Given the description of an element on the screen output the (x, y) to click on. 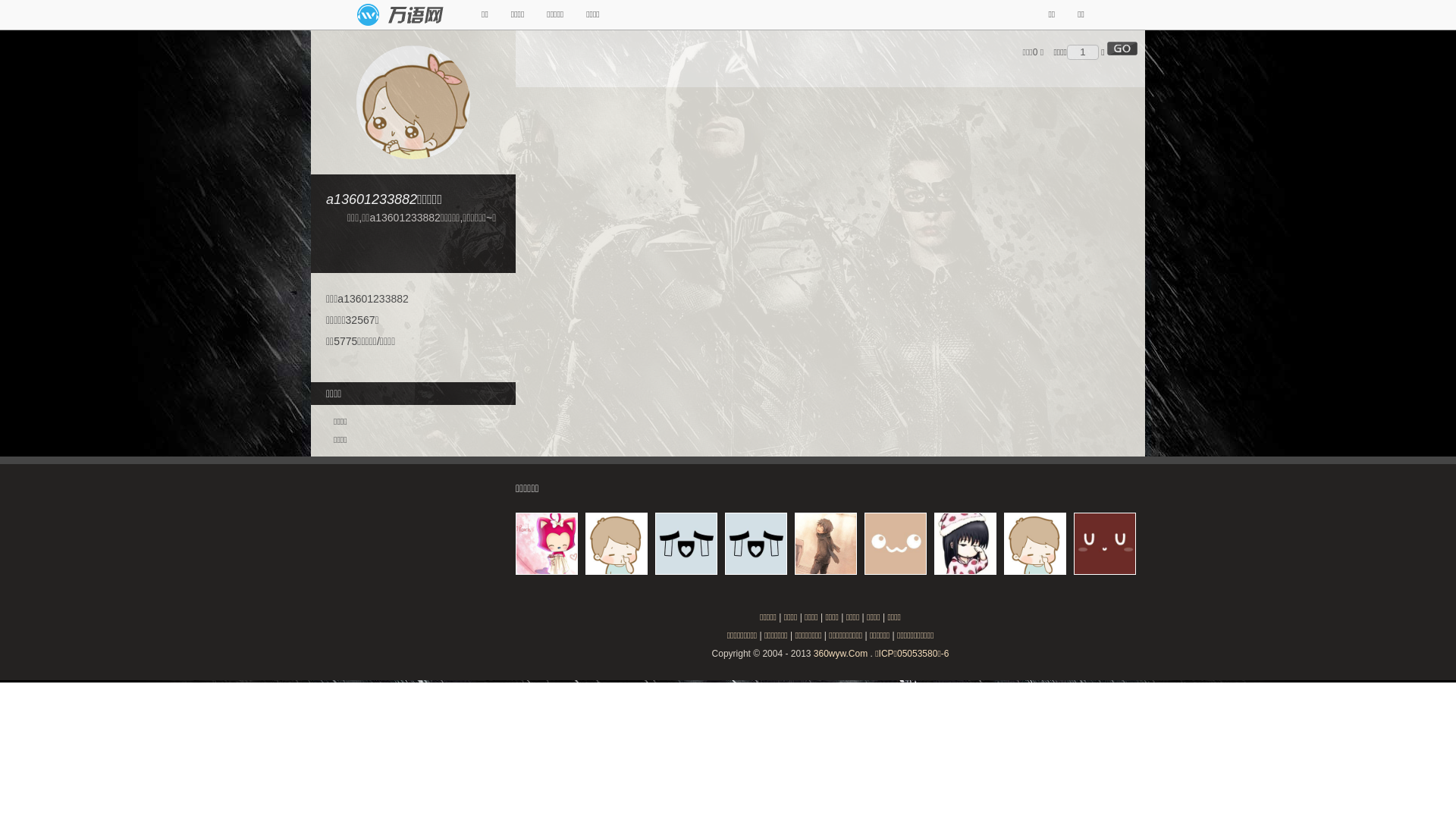
360wyw.Com Element type: text (840, 653)
Jump Page Element type: hover (1082, 51)
